Given the description of an element on the screen output the (x, y) to click on. 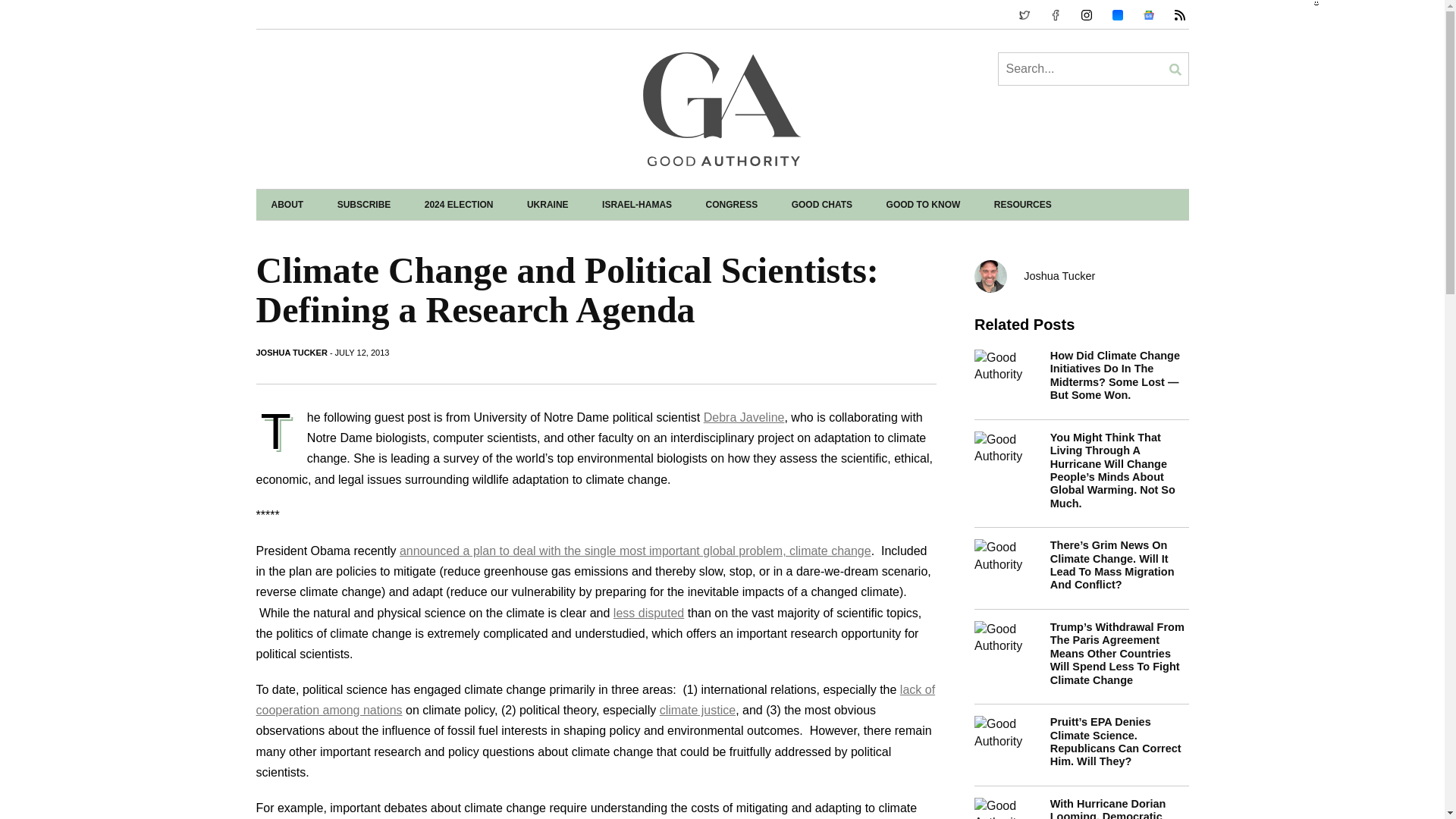
ABOUT (287, 204)
Joshua Tucker (1081, 276)
lack of cooperation among nations (596, 699)
GOOD TO KNOW (922, 204)
CONGRESS (731, 204)
JOSHUA TUCKER (291, 352)
Facebook (1054, 14)
Instagram (1117, 14)
GOOD CHATS (821, 204)
ISRAEL-HAMAS (636, 204)
